Given the description of an element on the screen output the (x, y) to click on. 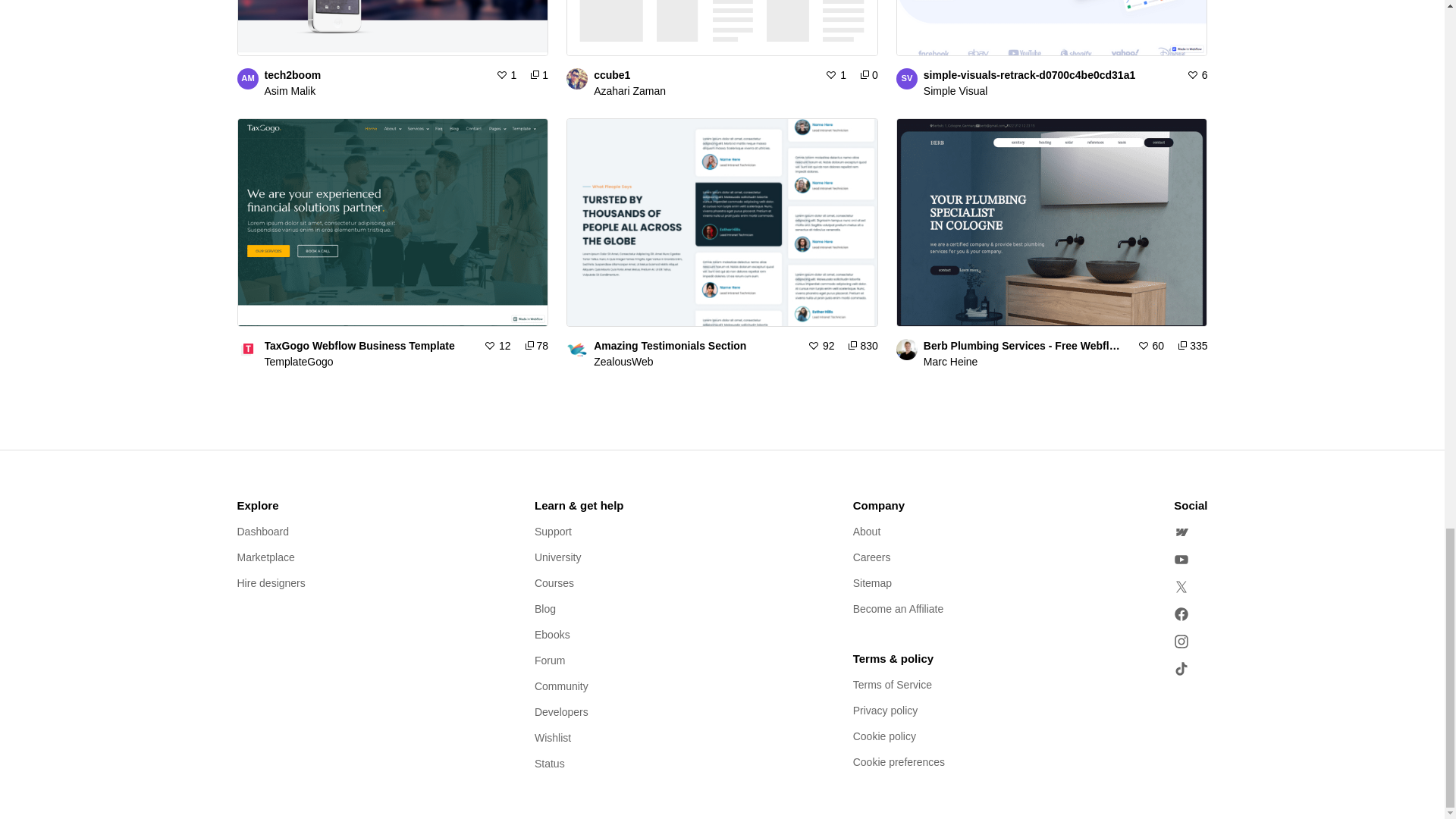
Asim Malik (246, 78)
tech2boom (405, 90)
